Given the description of an element on the screen output the (x, y) to click on. 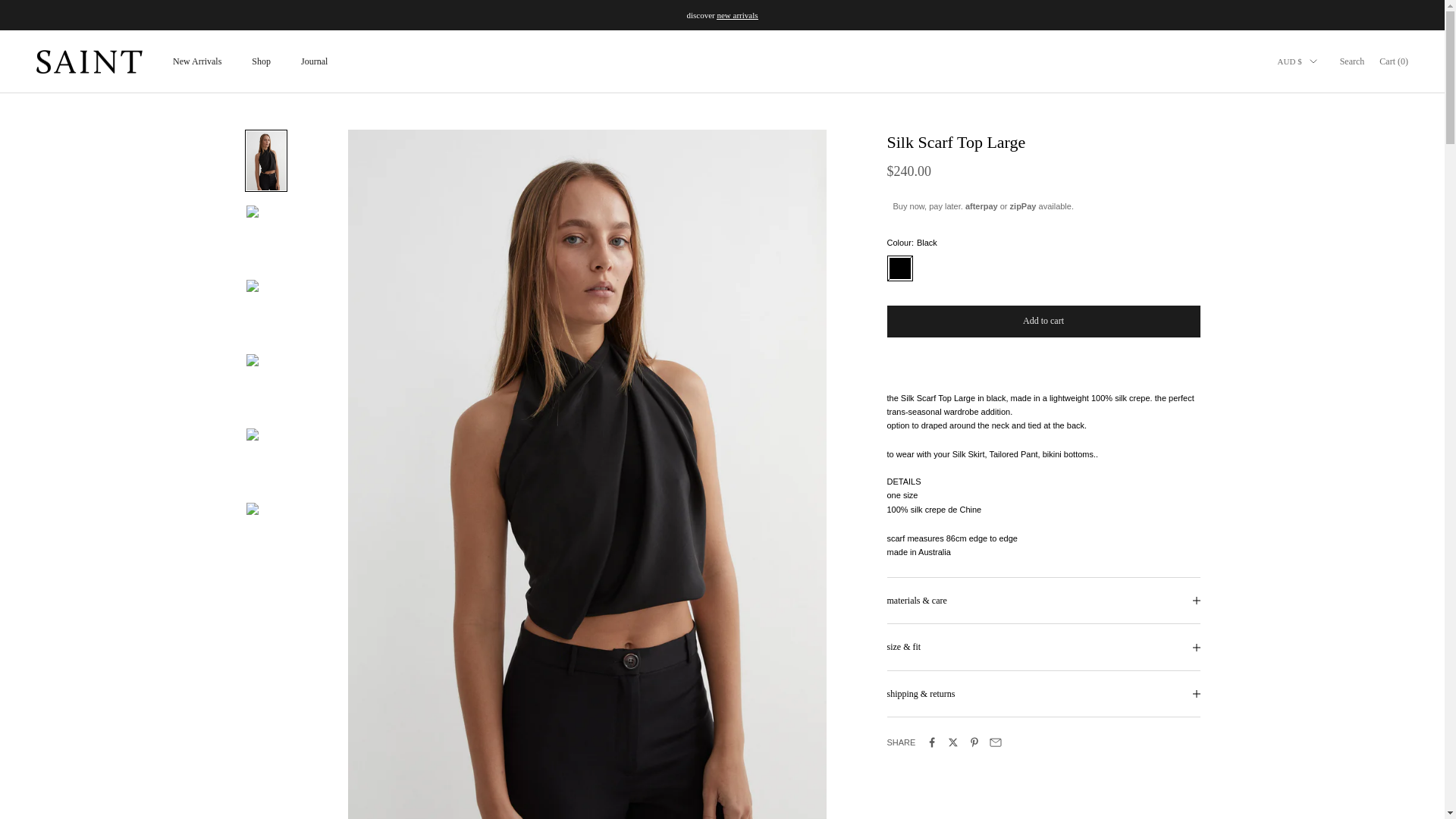
New Arrivals (197, 61)
Journal (314, 61)
New Arrivals (736, 14)
SAINT (89, 61)
new arrivals (736, 14)
